Given the description of an element on the screen output the (x, y) to click on. 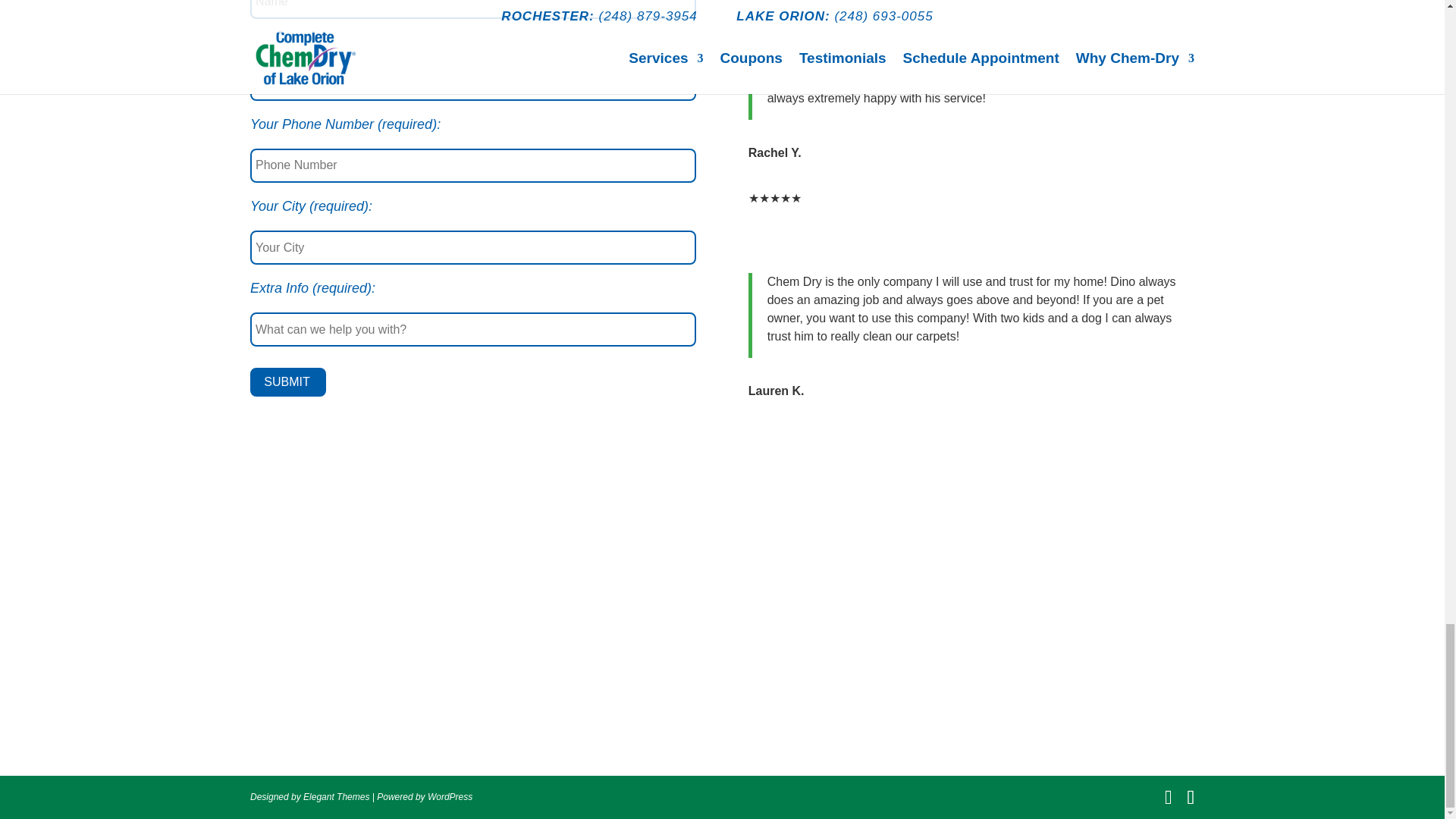
SUBMIT (288, 381)
SUBMIT (288, 381)
Premium WordPress Themes (335, 796)
